Given the description of an element on the screen output the (x, y) to click on. 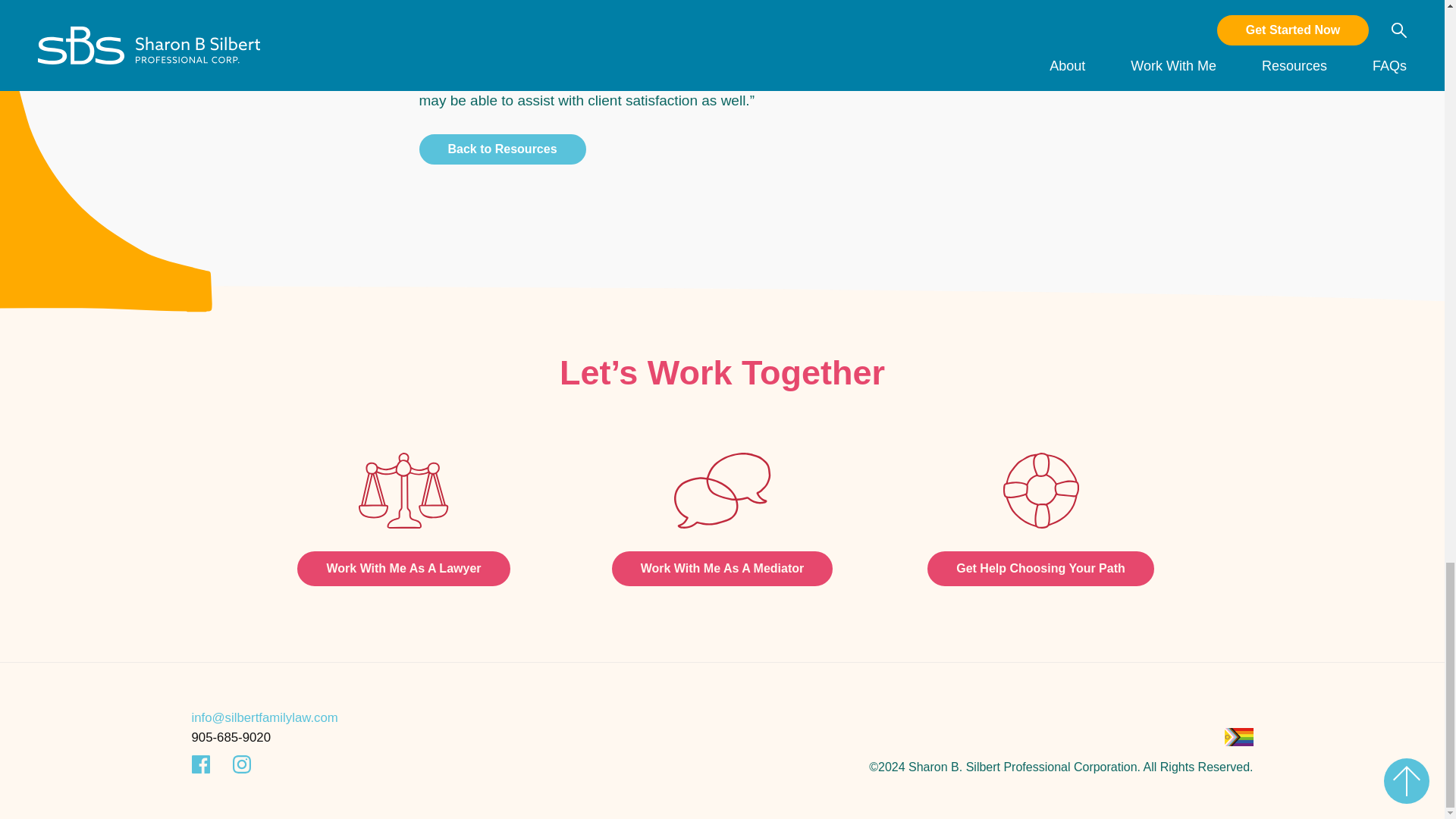
Back to Resources (502, 149)
Work With Me As A Lawyer (403, 568)
Get Help Choosing Your Path (1040, 568)
Work With Me As A Mediator (721, 568)
